Given the description of an element on the screen output the (x, y) to click on. 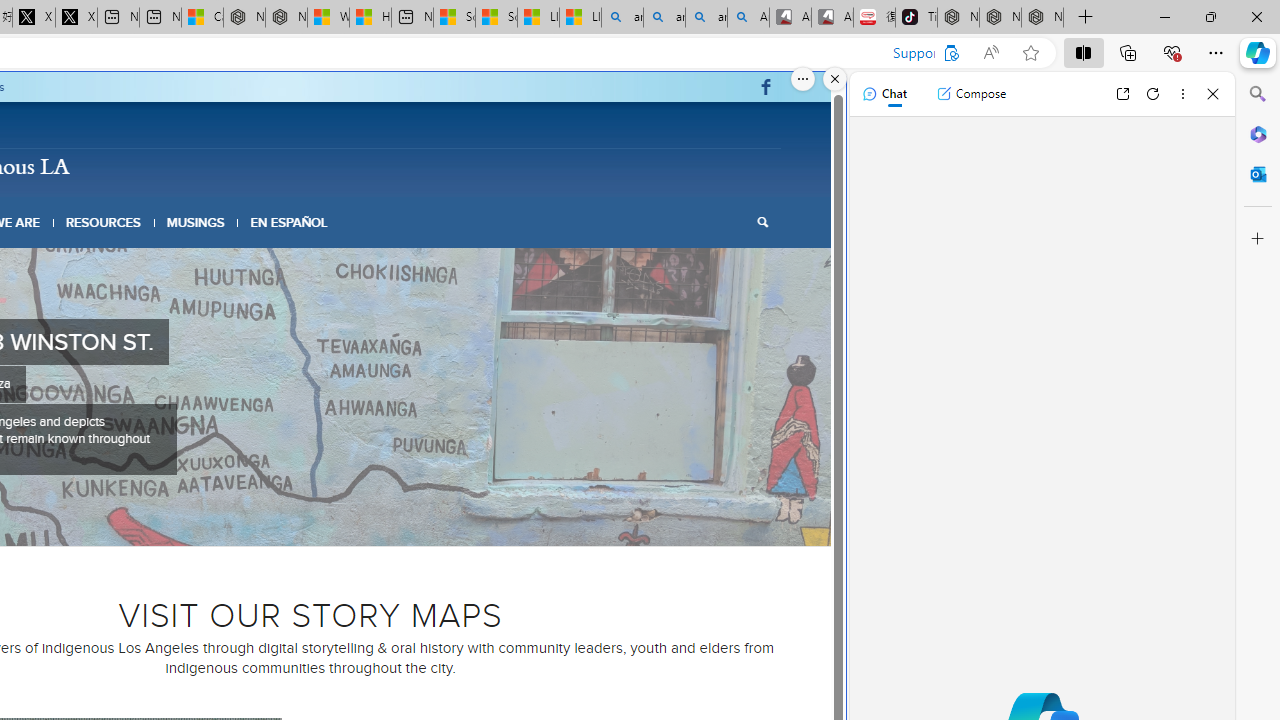
Nordace - Siena Pro 15 Essential Set (1042, 17)
MUSINGS (195, 222)
RESOURCES (102, 222)
Nordace - Best Sellers (958, 17)
More options (1182, 93)
4 (301, 521)
amazon - Search (663, 17)
Wildlife - MSN (328, 17)
5 (318, 521)
Compose (971, 93)
Chat (884, 93)
